Given the description of an element on the screen output the (x, y) to click on. 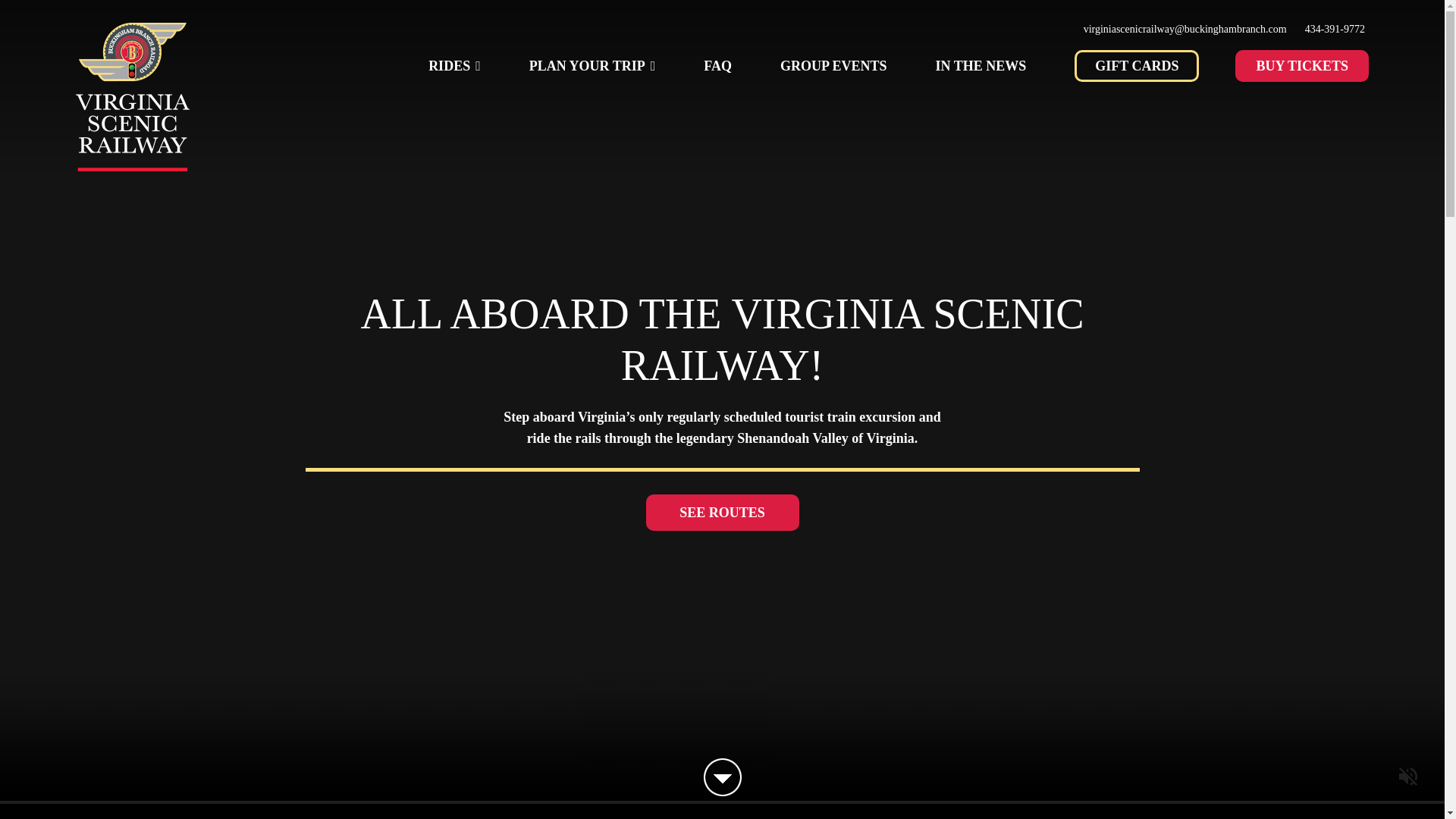
PLAN YOUR TRIP (592, 65)
434-391-9772 (1334, 29)
SEE ROUTES (722, 512)
GIFT CARDS (1136, 65)
FAQ (717, 65)
BUY TICKETS (1301, 65)
RIDES (454, 65)
GROUP EVENTS (833, 65)
IN THE NEWS (981, 65)
